Given the description of an element on the screen output the (x, y) to click on. 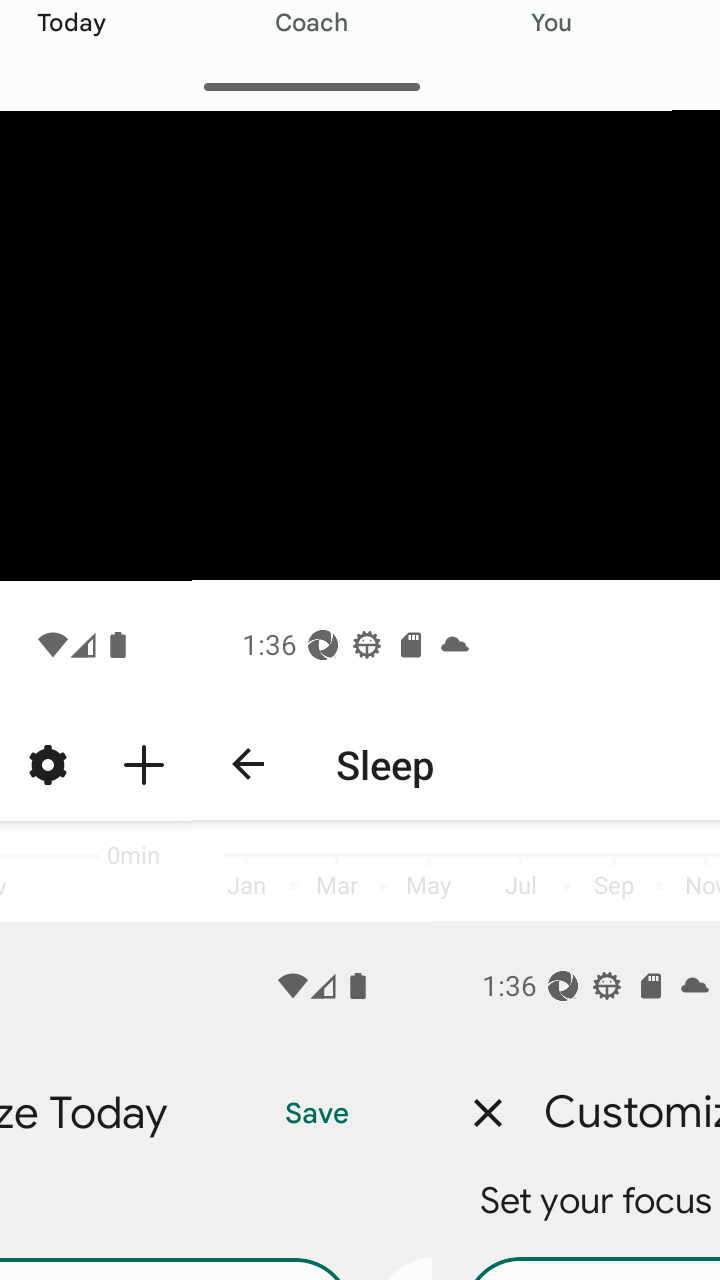
Issues found in sign-in & recovery (360, 746)
